Given the description of an element on the screen output the (x, y) to click on. 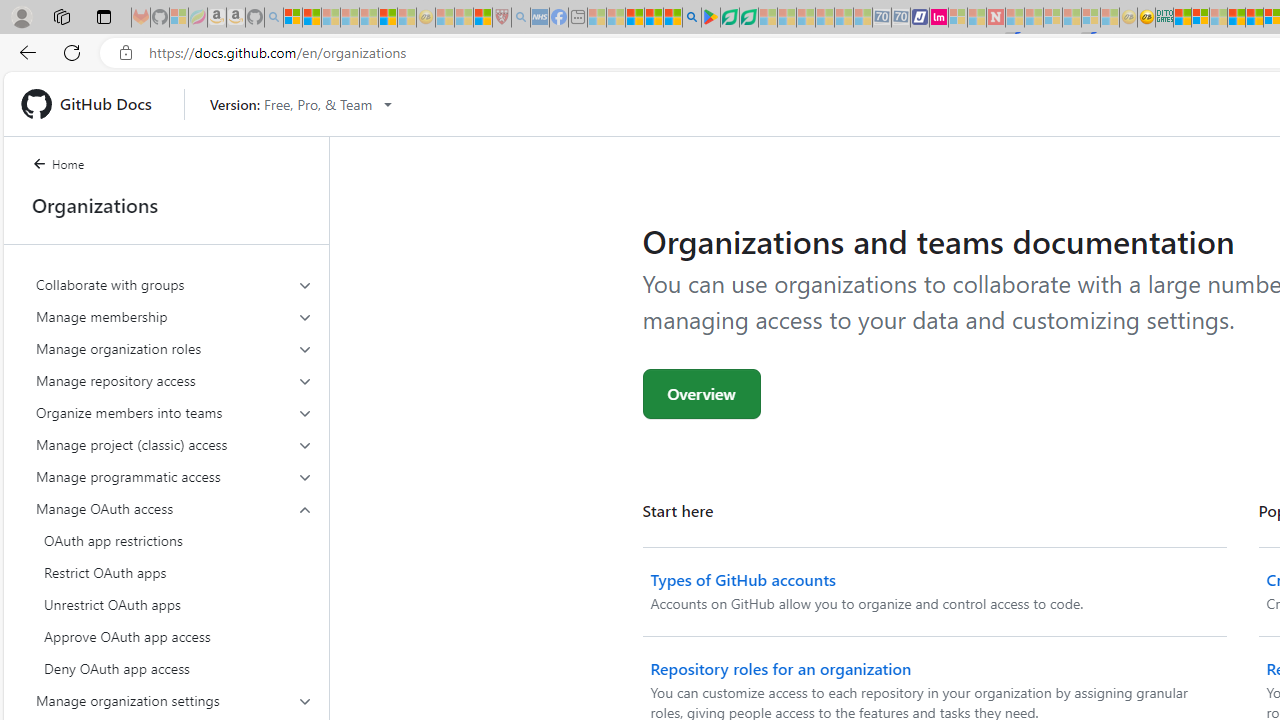
Approve OAuth app access (174, 636)
Approve OAuth app access (174, 636)
Microsoft Word - consumer-privacy address update 2.2021 (748, 17)
Latest Politics News & Archive | Newsweek.com - Sleeping (995, 17)
Manage project (classic) access (174, 444)
Collaborate with groups (174, 284)
Manage programmatic access (174, 476)
Manage organization roles (174, 348)
